Given the description of an element on the screen output the (x, y) to click on. 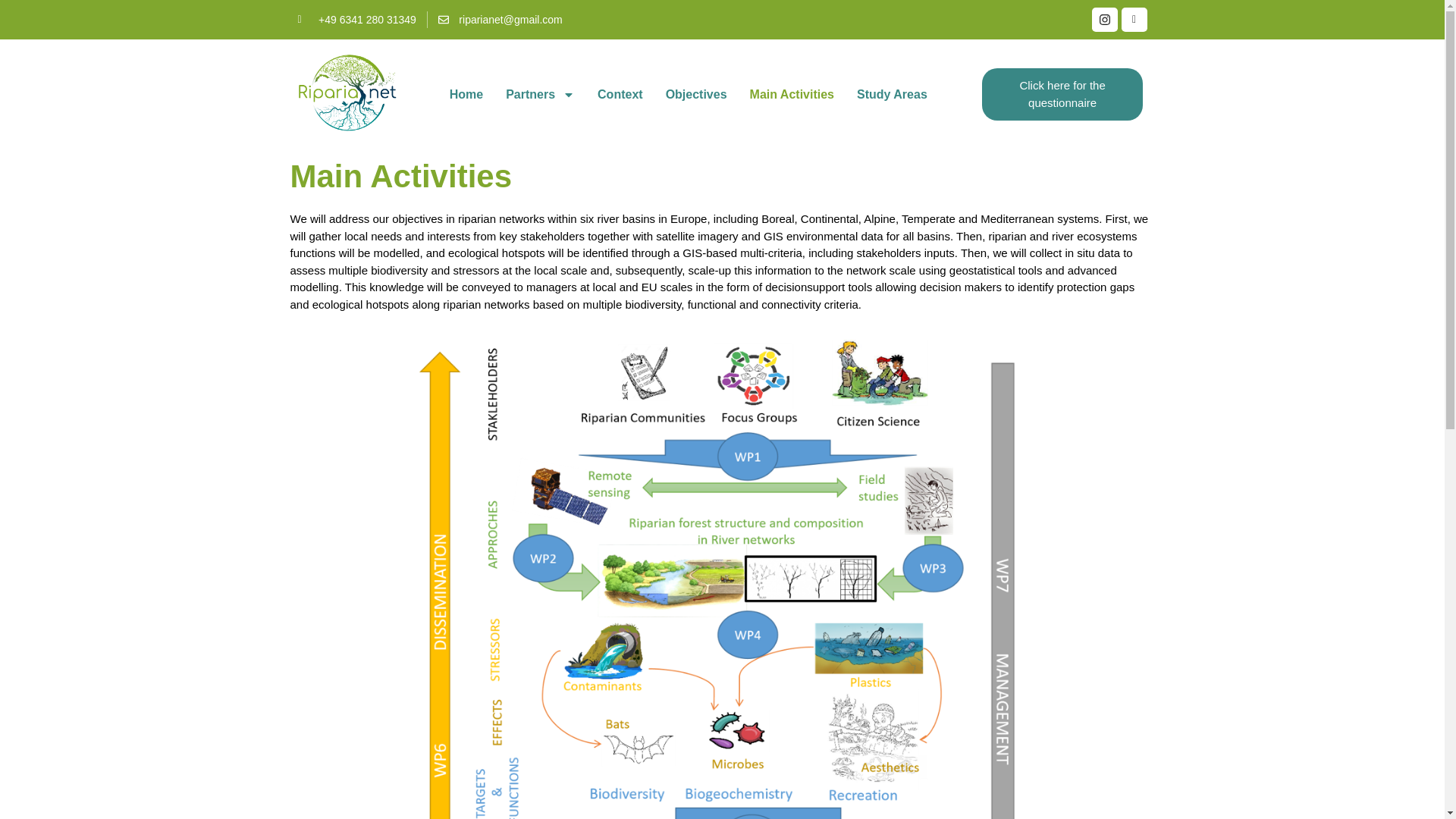
Click here for the questionnaire (1061, 93)
Home (466, 94)
Partners (540, 94)
Study Areas (892, 94)
Context (619, 94)
Objectives (695, 94)
Main Activities (791, 94)
